Given the description of an element on the screen output the (x, y) to click on. 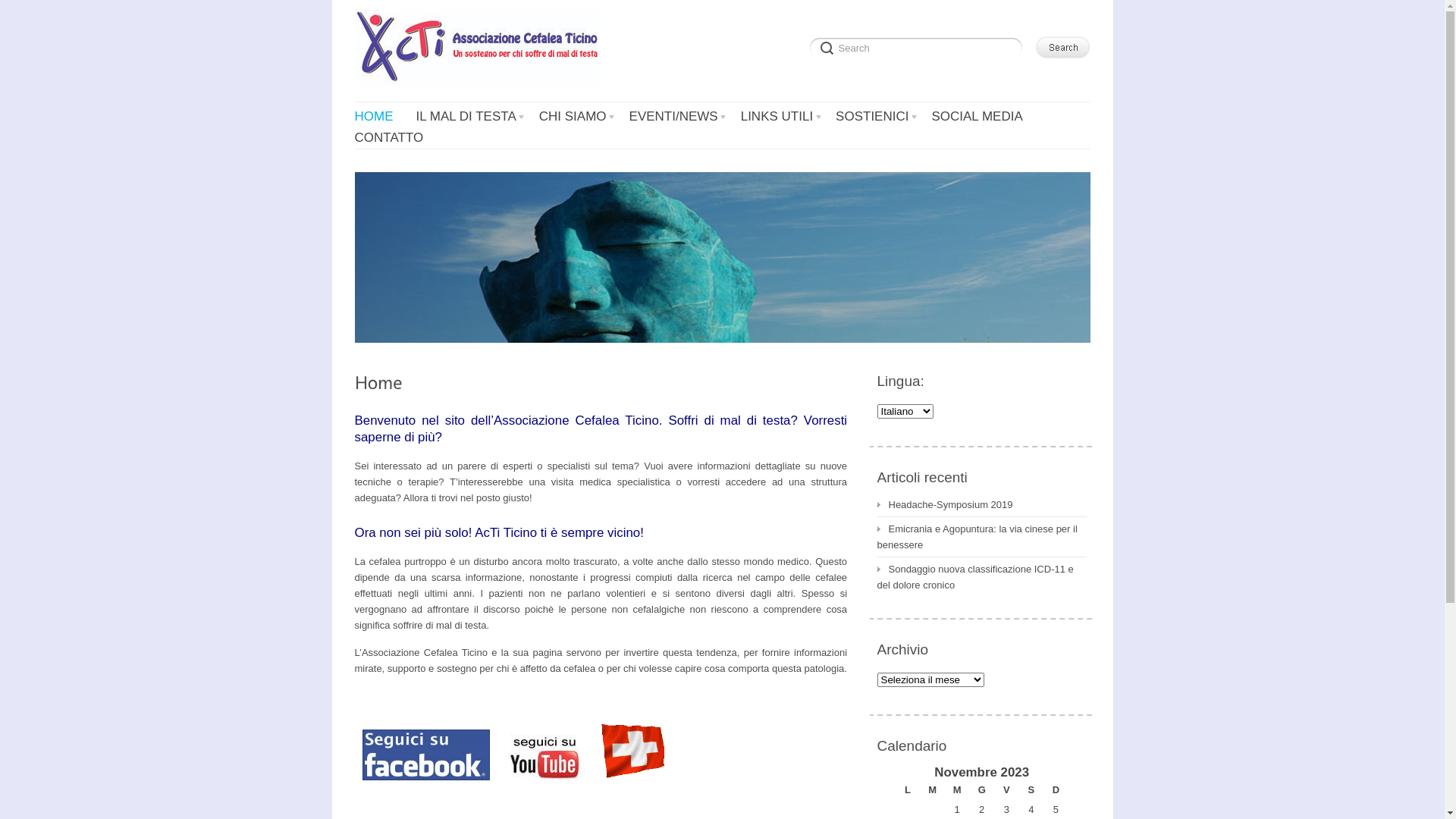
Seguici su Facebook Element type: hover (425, 754)
Headache-Symposium 2019 Element type: text (944, 504)
Seguici youtube Element type: hover (544, 757)
search Element type: hover (918, 45)
Emicrania e Agopuntura: la via cinese per il benessere Element type: text (976, 536)
Search Element type: hover (1061, 47)
CONTATTO Element type: text (388, 137)
SOCIAL MEDIA Element type: text (976, 116)
Sondaggio nuova classificazione ICD-11 e del dolore cronico Element type: text (974, 576)
HOME Element type: text (373, 116)
Search Element type: text (918, 45)
